Given the description of an element on the screen output the (x, y) to click on. 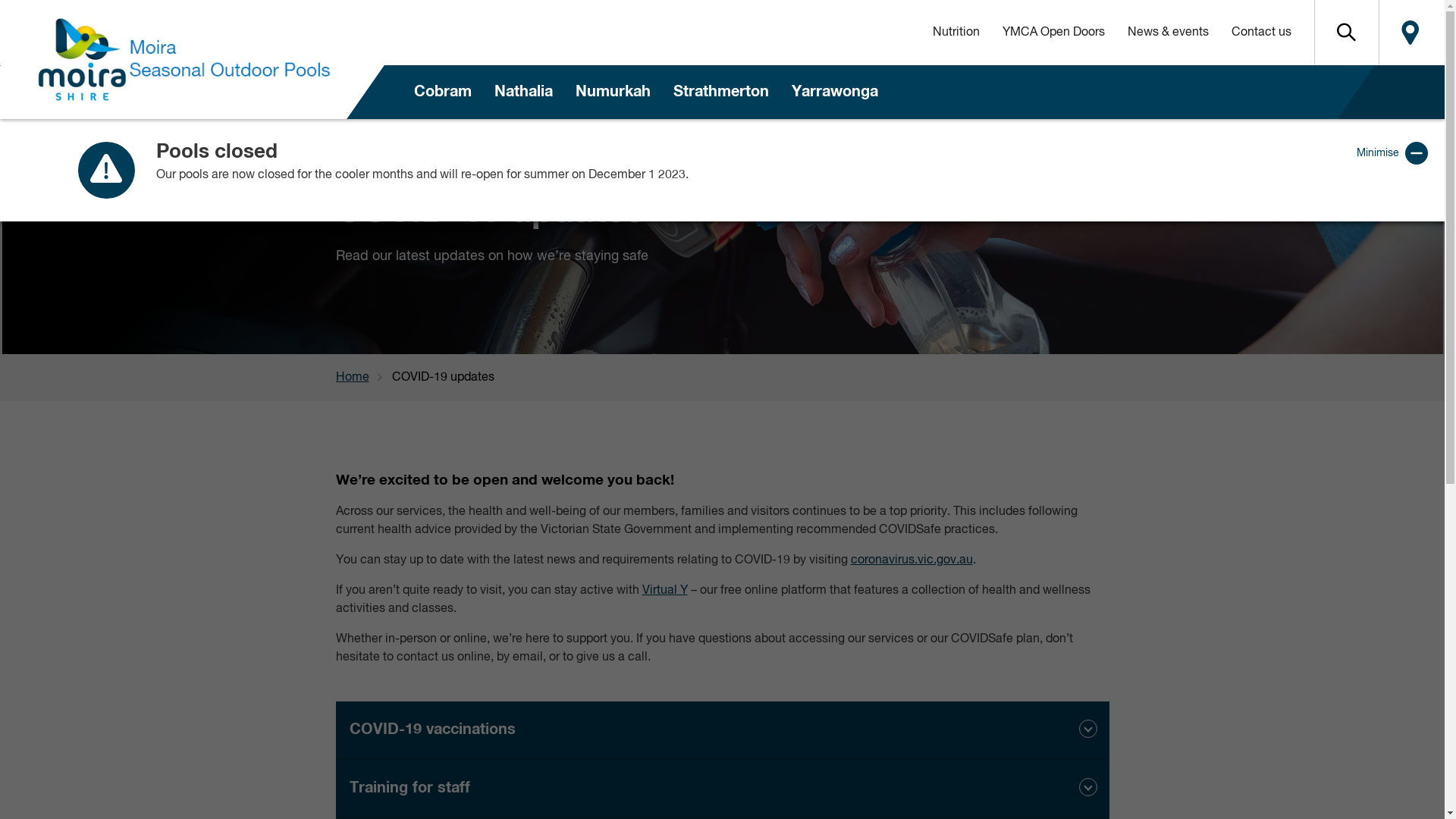
Contact us Element type: text (1260, 32)
Nutrition Element type: text (955, 32)
Cobram Element type: text (442, 92)
Yarrawonga Element type: text (834, 92)
Strathmerton Element type: text (721, 92)
News & events Element type: text (1168, 32)
Nathalia Element type: text (523, 92)
Home Element type: text (363, 377)
coronavirus.vic.gov.au Element type: text (911, 560)
Numurkah Element type: text (613, 92)
COVID-19 vaccinations Element type: text (721, 730)
Locate Element type: text (1410, 32)
YMCA Open Doors Element type: text (1052, 32)
Training for staff Element type: text (721, 788)
Virtual Y Element type: text (664, 590)
